Given the description of an element on the screen output the (x, y) to click on. 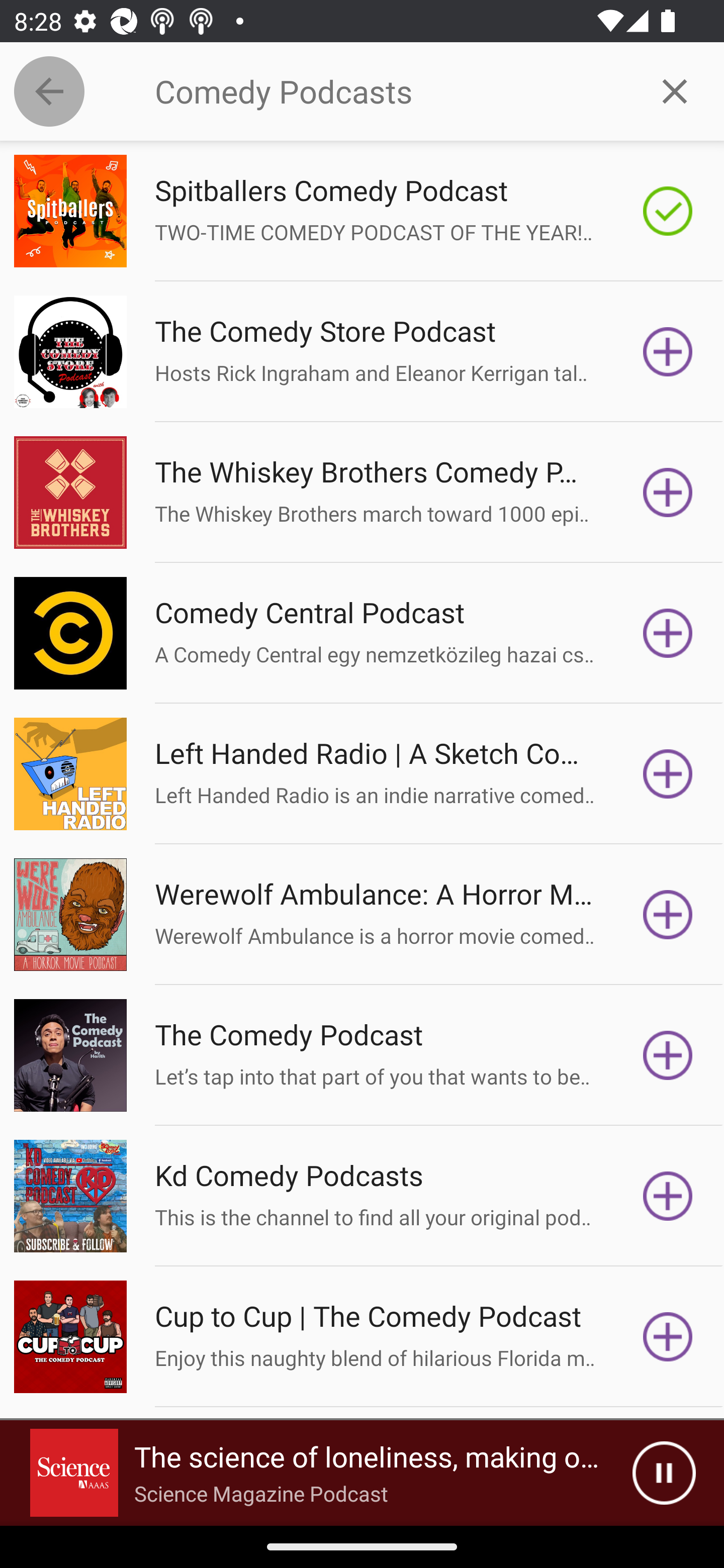
Collapse (49, 91)
Clear query (674, 90)
Comedy Podcasts (389, 91)
Subscribed (667, 211)
Subscribe (667, 350)
Subscribe (667, 491)
Subscribe (667, 633)
Subscribe (667, 773)
Subscribe (667, 913)
Subscribe (667, 1054)
Subscribe (667, 1195)
Subscribe (667, 1336)
Pause (663, 1472)
